Given the description of an element on the screen output the (x, y) to click on. 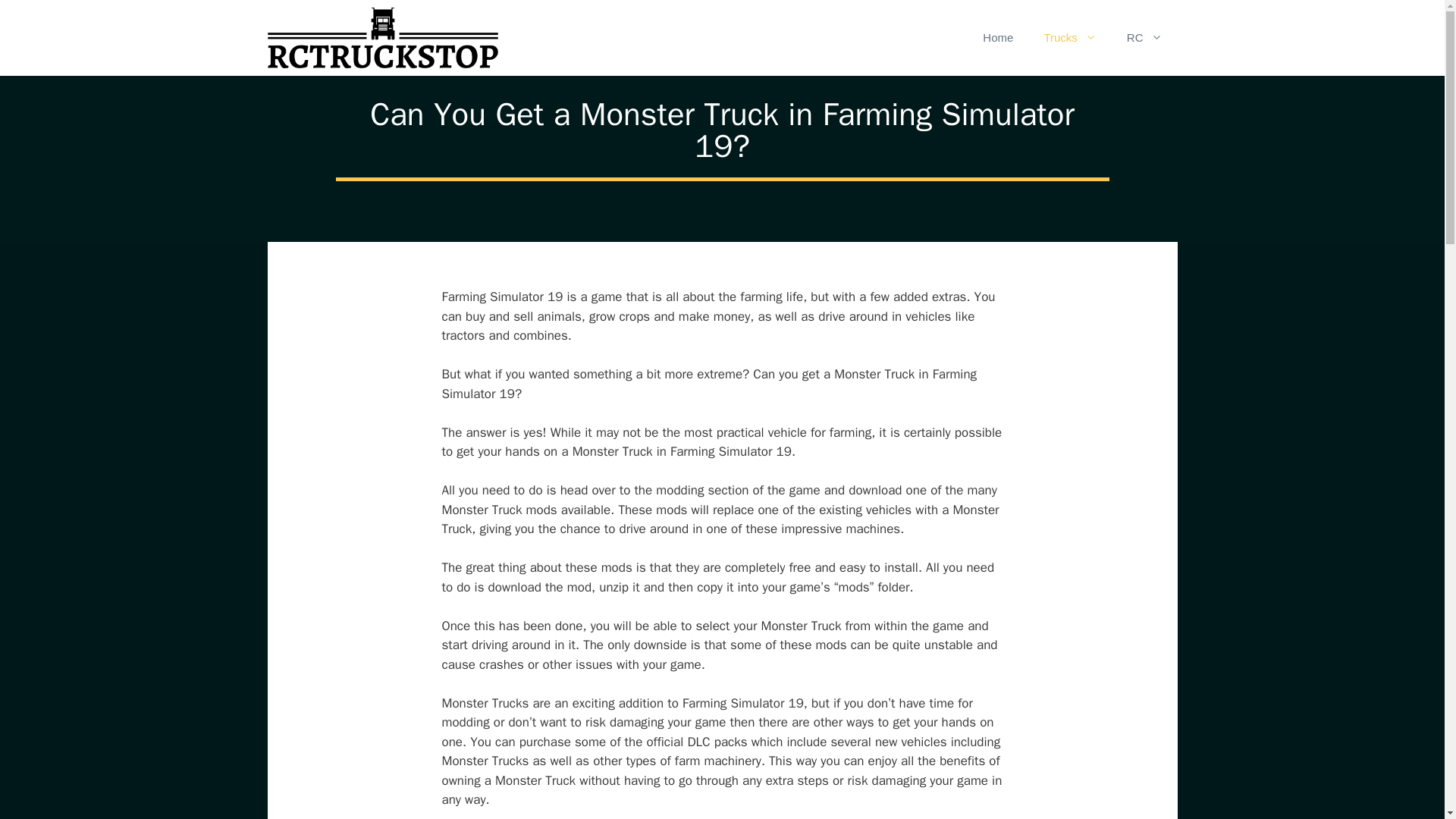
Home (997, 37)
Trucks (1068, 37)
RC (1144, 37)
RCTruckStop (381, 38)
